Given the description of an element on the screen output the (x, y) to click on. 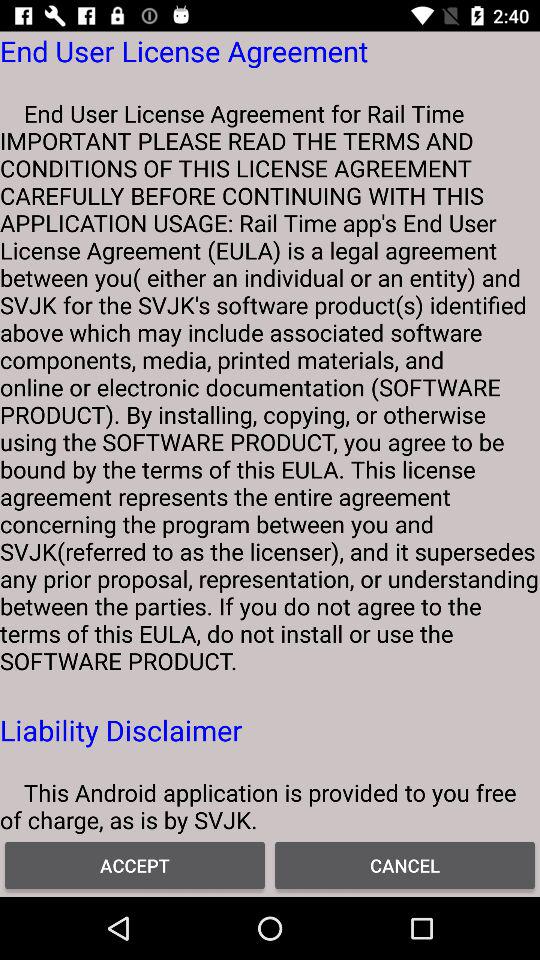
press the button to the left of the cancel item (135, 864)
